Given the description of an element on the screen output the (x, y) to click on. 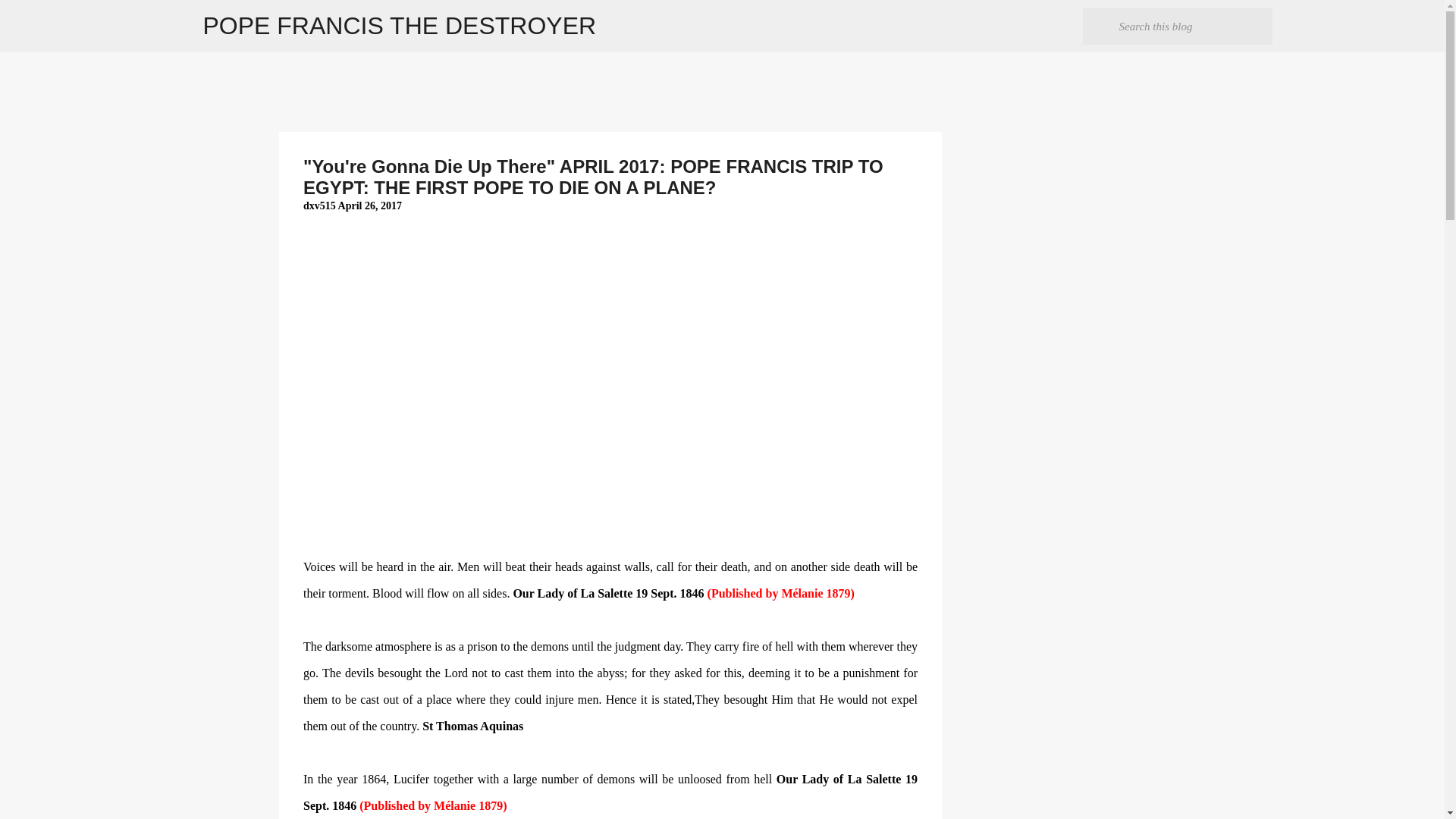
permanent link (369, 205)
April 26, 2017 (369, 205)
POPE FRANCIS THE DESTROYER (399, 25)
author profile (319, 205)
dxv515 (319, 205)
